Given the description of an element on the screen output the (x, y) to click on. 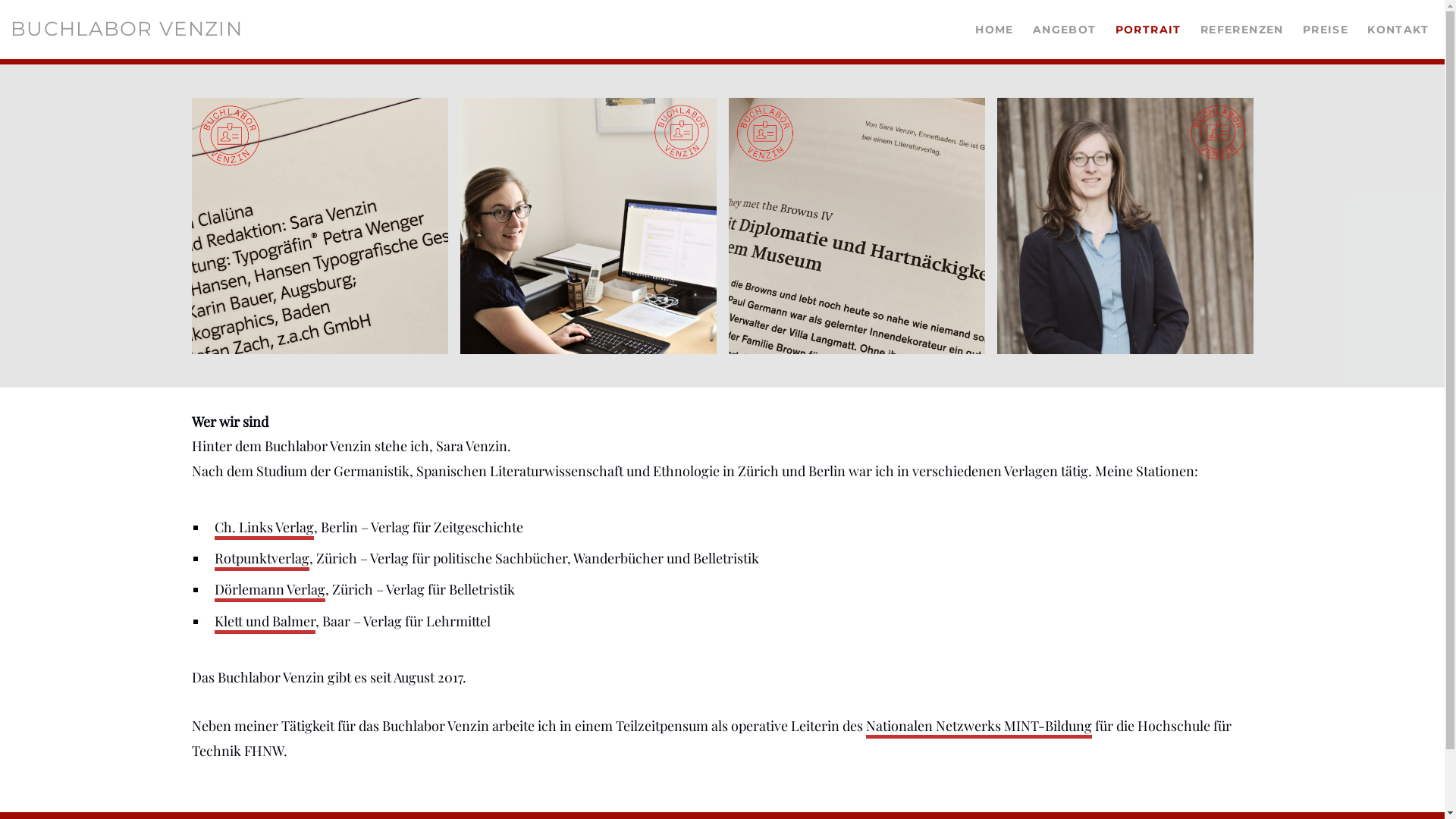
KONTAKT Element type: text (1395, 29)
PREISE Element type: text (1322, 29)
Ch. Links Verlag Element type: text (263, 528)
PORTRAIT Element type: text (1145, 29)
Nationalen Netzwerks MINT-Bildung Element type: text (979, 727)
Klett und Balmer Element type: text (264, 622)
HOME Element type: text (991, 29)
ANGEBOT Element type: text (1061, 29)
REFERENZEN Element type: text (1239, 29)
BUCHLABOR VENZIN Element type: text (126, 28)
Rotpunktverlag Element type: text (261, 560)
